Given the description of an element on the screen output the (x, y) to click on. 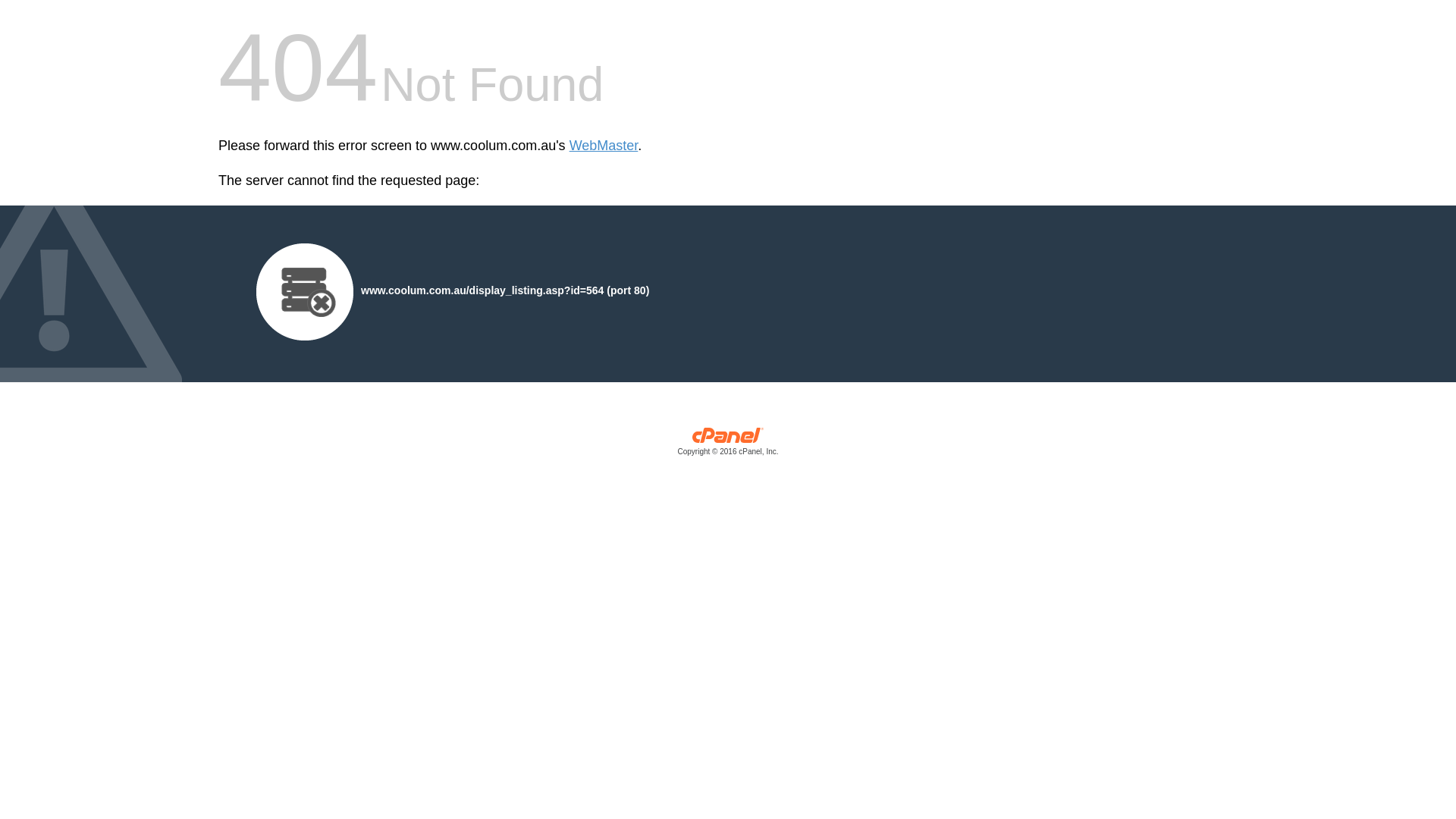
WebMaster Element type: text (603, 145)
